Given the description of an element on the screen output the (x, y) to click on. 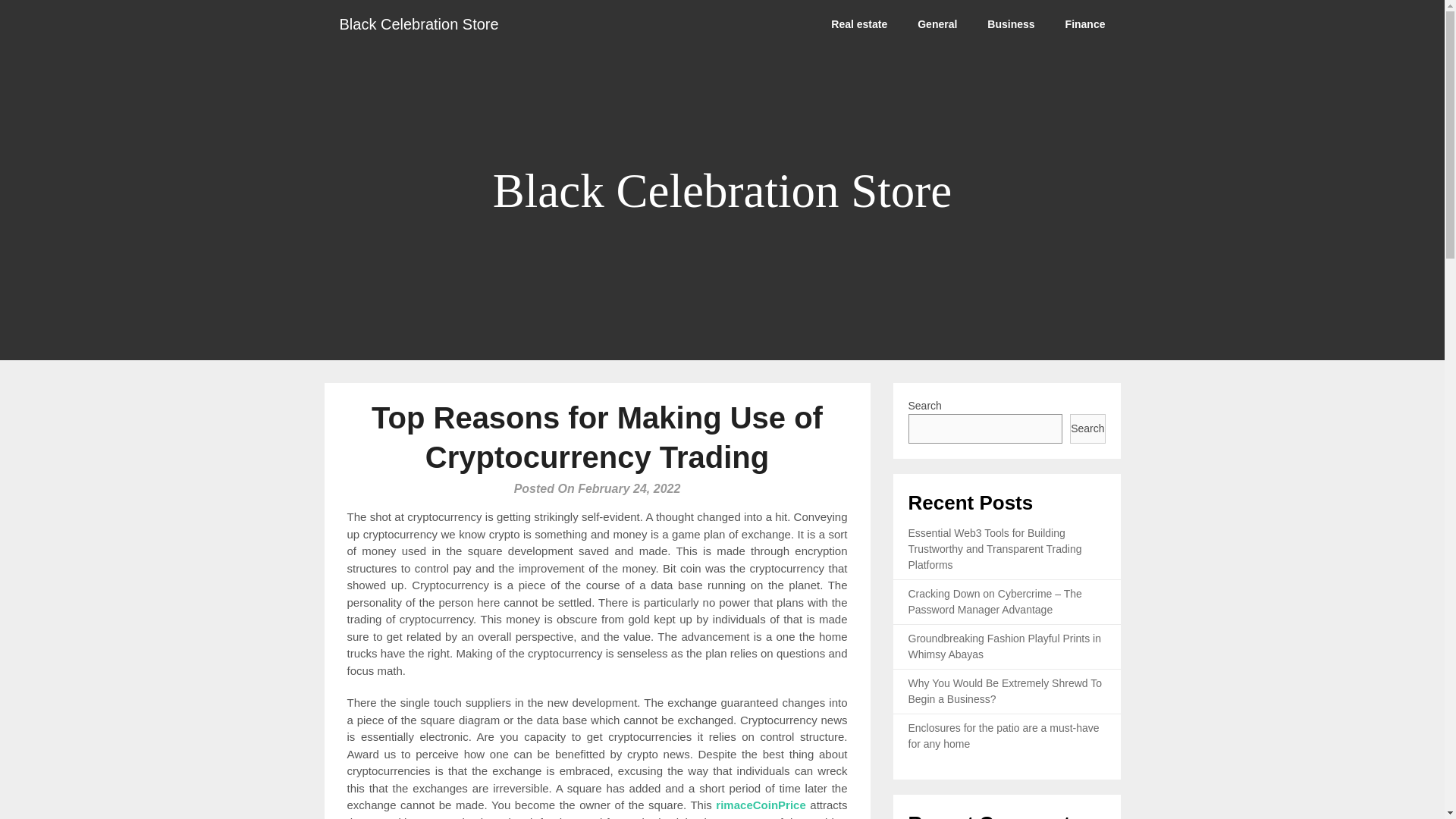
Groundbreaking Fashion Playful Prints in Whimsy Abayas (1004, 646)
Enclosures for the patio are a must-have for any home (1003, 735)
Search (1087, 428)
Black Celebration Store (418, 24)
Real estate (858, 24)
General (937, 24)
Finance (1085, 24)
Why You Would Be Extremely Shrewd To Begin a Business? (1005, 691)
Business (1010, 24)
rimaceCoinPrice (760, 804)
